Given the description of an element on the screen output the (x, y) to click on. 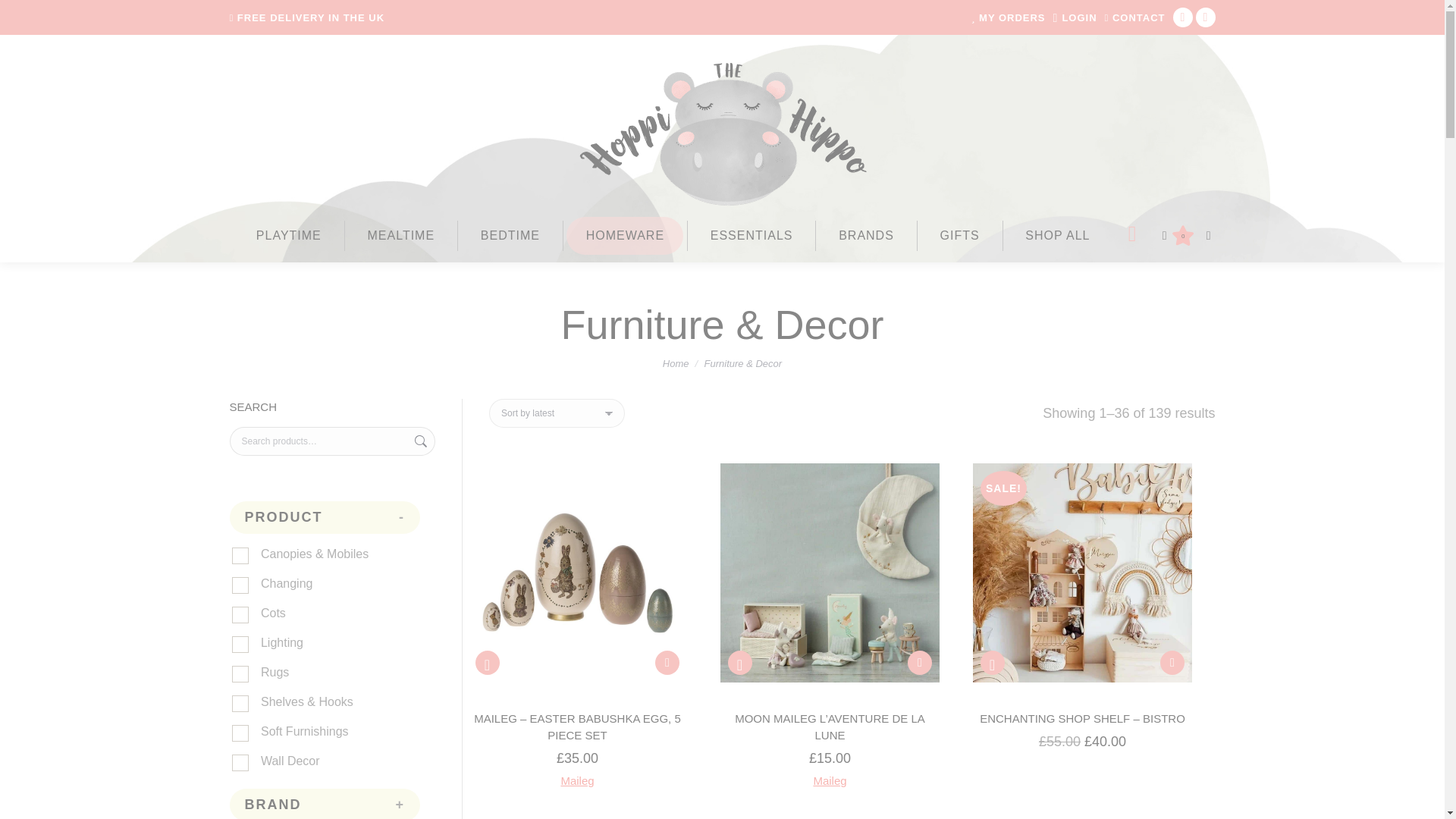
CONTACT (1135, 17)
PLAYTIME (287, 235)
LOGIN (1074, 17)
Instagram page opens in new window (1205, 17)
MY ORDERS (1008, 17)
Home (675, 363)
Instagram page opens in new window (1205, 17)
Facebook page opens in new window (1182, 17)
Facebook page opens in new window (1182, 17)
